Given the description of an element on the screen output the (x, y) to click on. 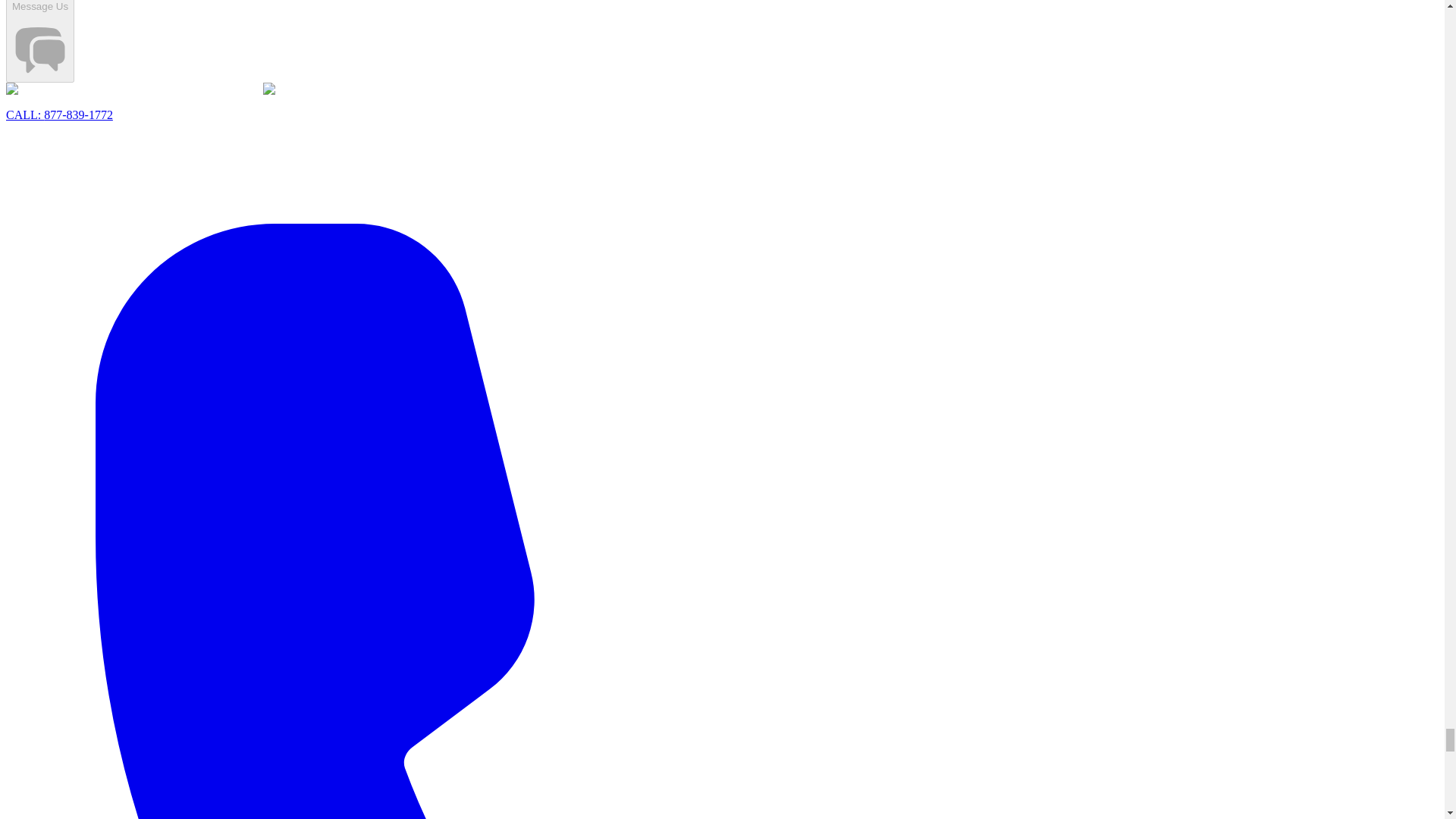
The Drinking Dilemma How Much Is Too Much (134, 89)
